Given the description of an element on the screen output the (x, y) to click on. 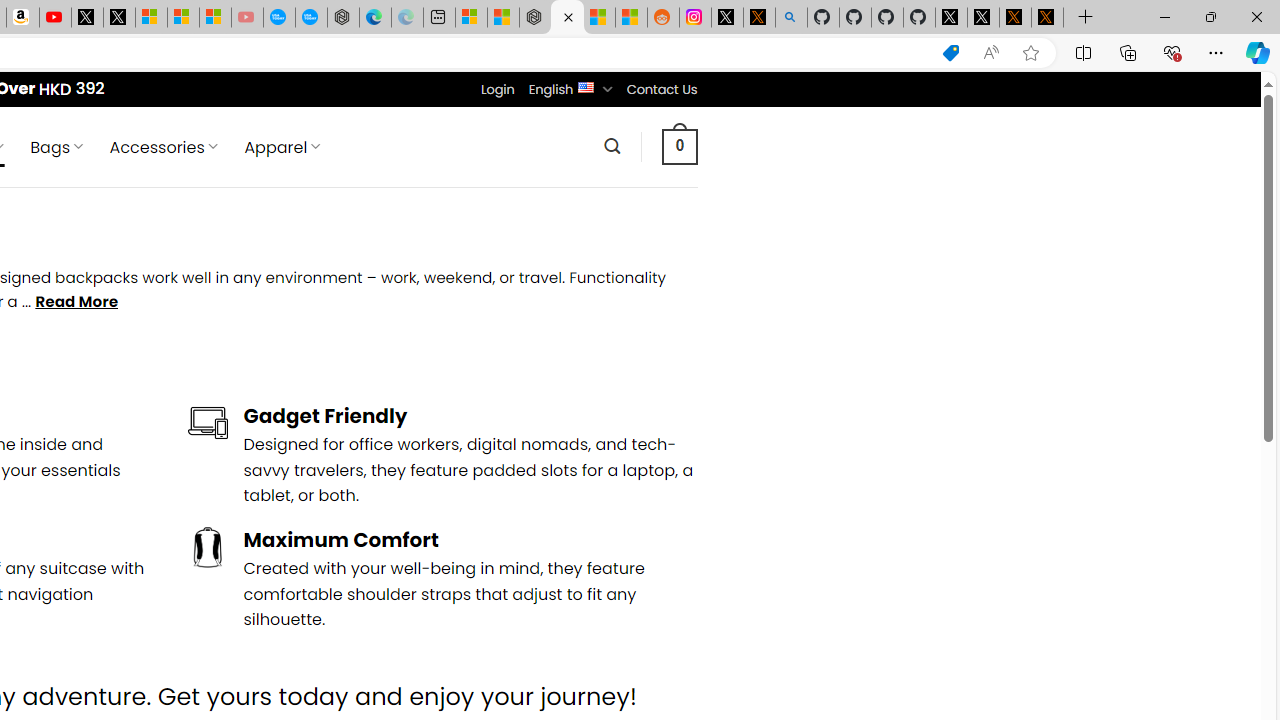
help.x.com | 524: A timeout occurred (758, 17)
Read More (76, 301)
Login (497, 89)
Nordace - Best Sellers (535, 17)
  0   (679, 146)
